Given the description of an element on the screen output the (x, y) to click on. 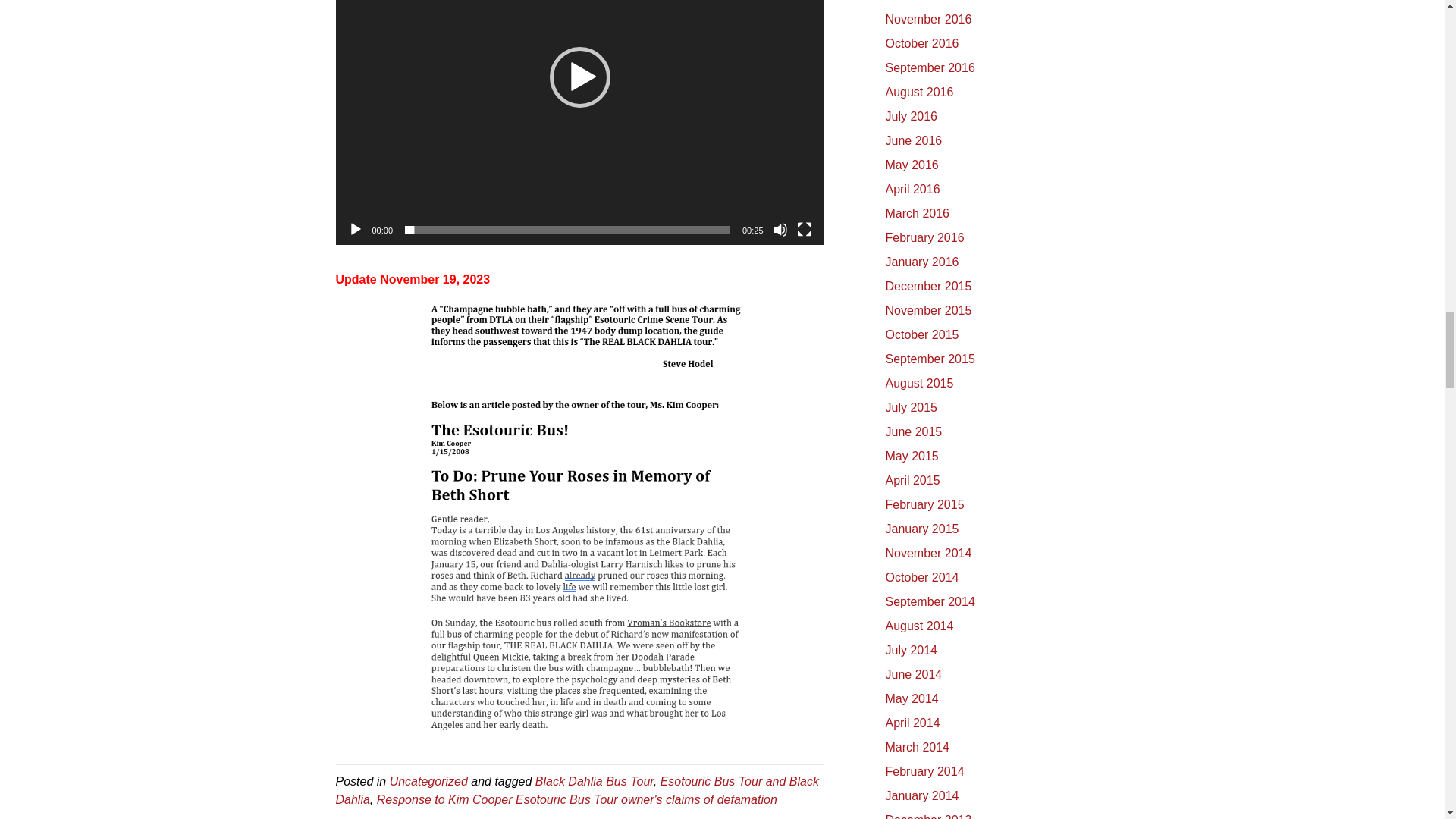
Fullscreen (803, 229)
Mute (779, 229)
Play (354, 229)
Uncategorized (428, 780)
Black Dahlia Bus Tour (594, 780)
Esotouric Bus Tour and Black Dahlia (576, 789)
